Given the description of an element on the screen output the (x, y) to click on. 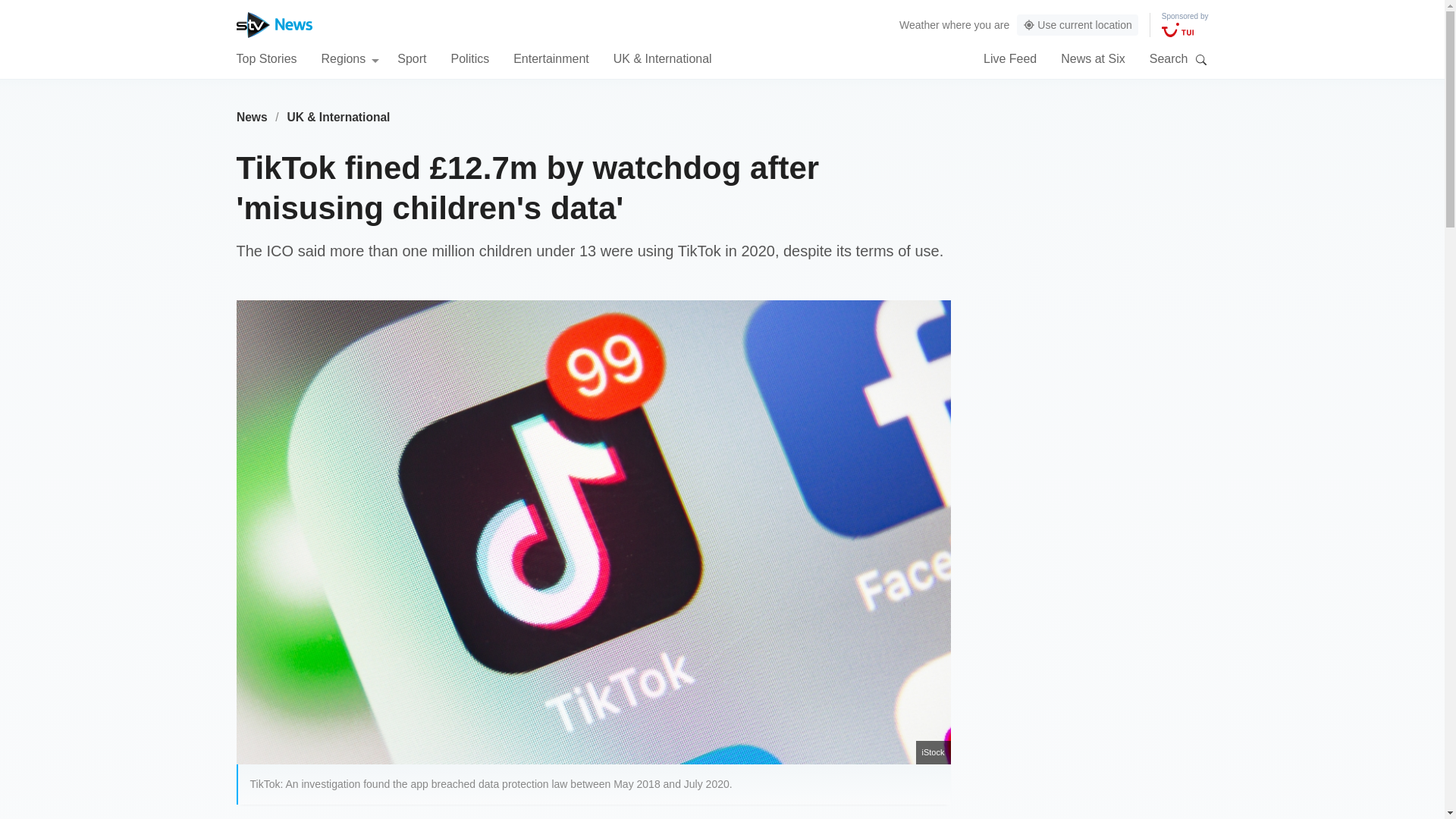
Search (1201, 59)
Weather (919, 24)
Politics (469, 57)
News (252, 116)
Regions (350, 57)
News at Six (1092, 57)
Entertainment (551, 57)
Live Feed (1010, 57)
Use current location (1077, 25)
Top Stories (266, 57)
